Given the description of an element on the screen output the (x, y) to click on. 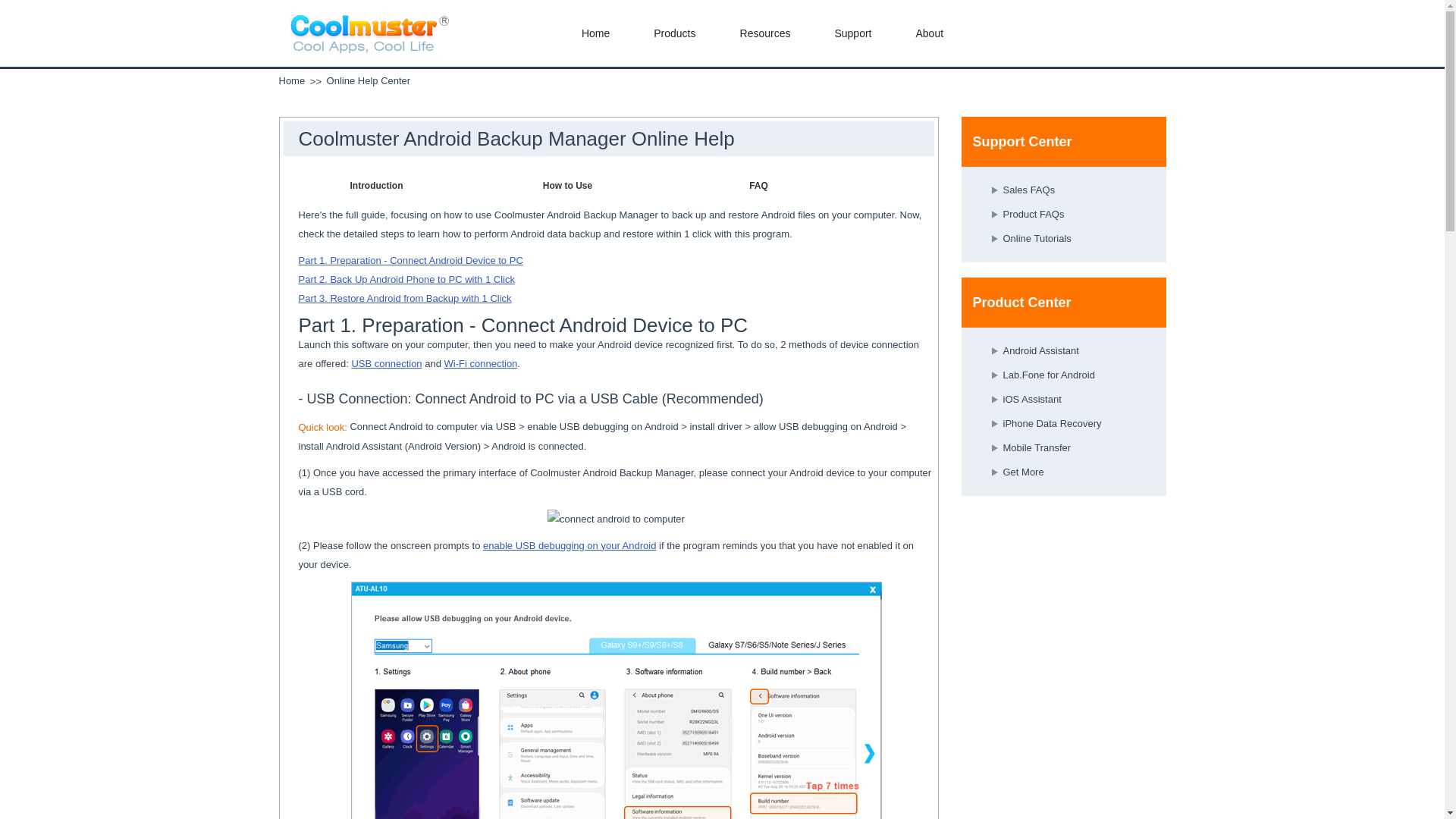
enable usb debugging on android (615, 700)
Home (595, 32)
Resources (764, 32)
Products (674, 32)
connect android to computer (615, 518)
